Given the description of an element on the screen output the (x, y) to click on. 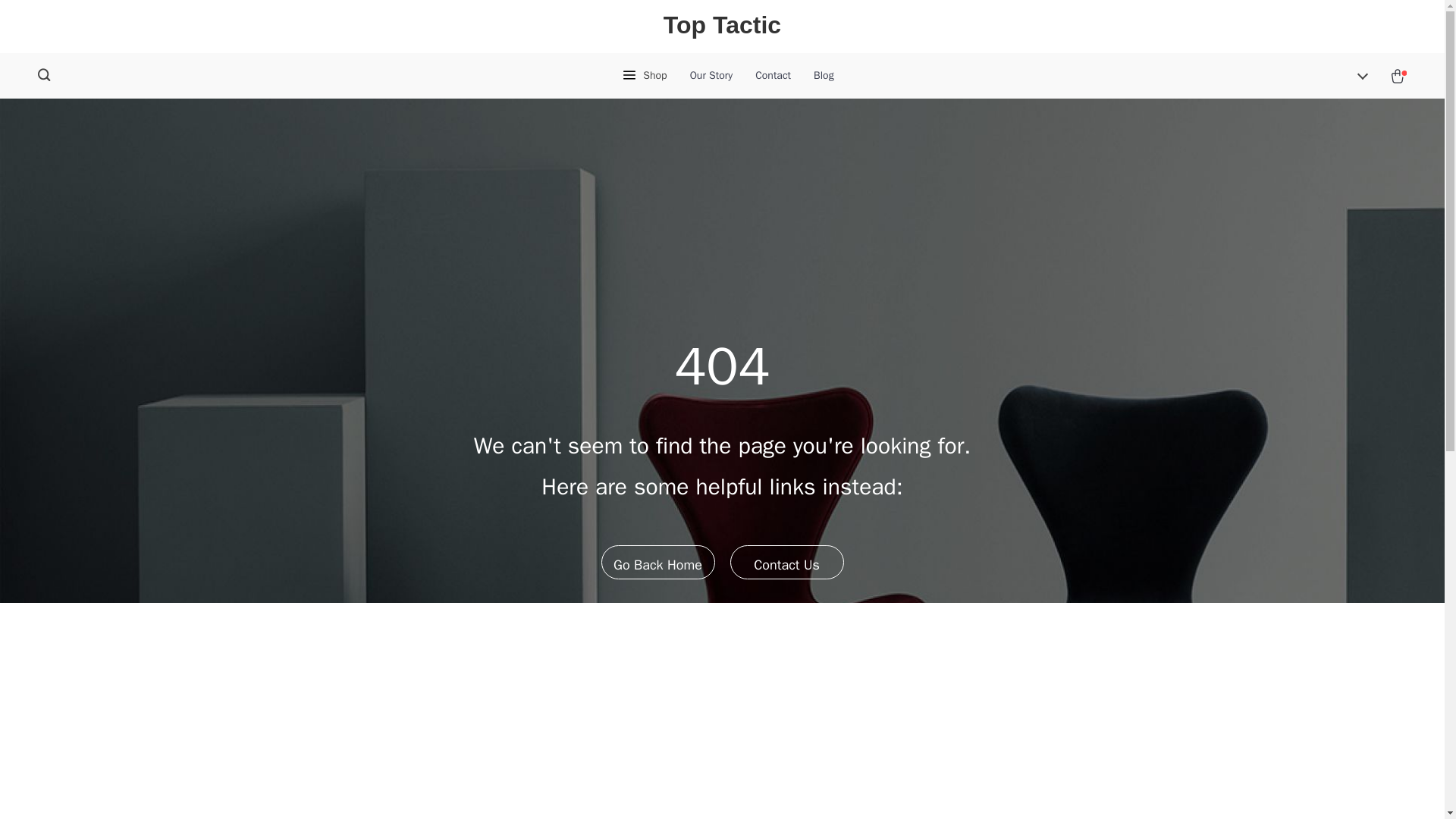
Contact Us (786, 561)
Contact (772, 75)
Our Story (711, 75)
Top Tactic (721, 26)
Go Back Home (656, 561)
